Given the description of an element on the screen output the (x, y) to click on. 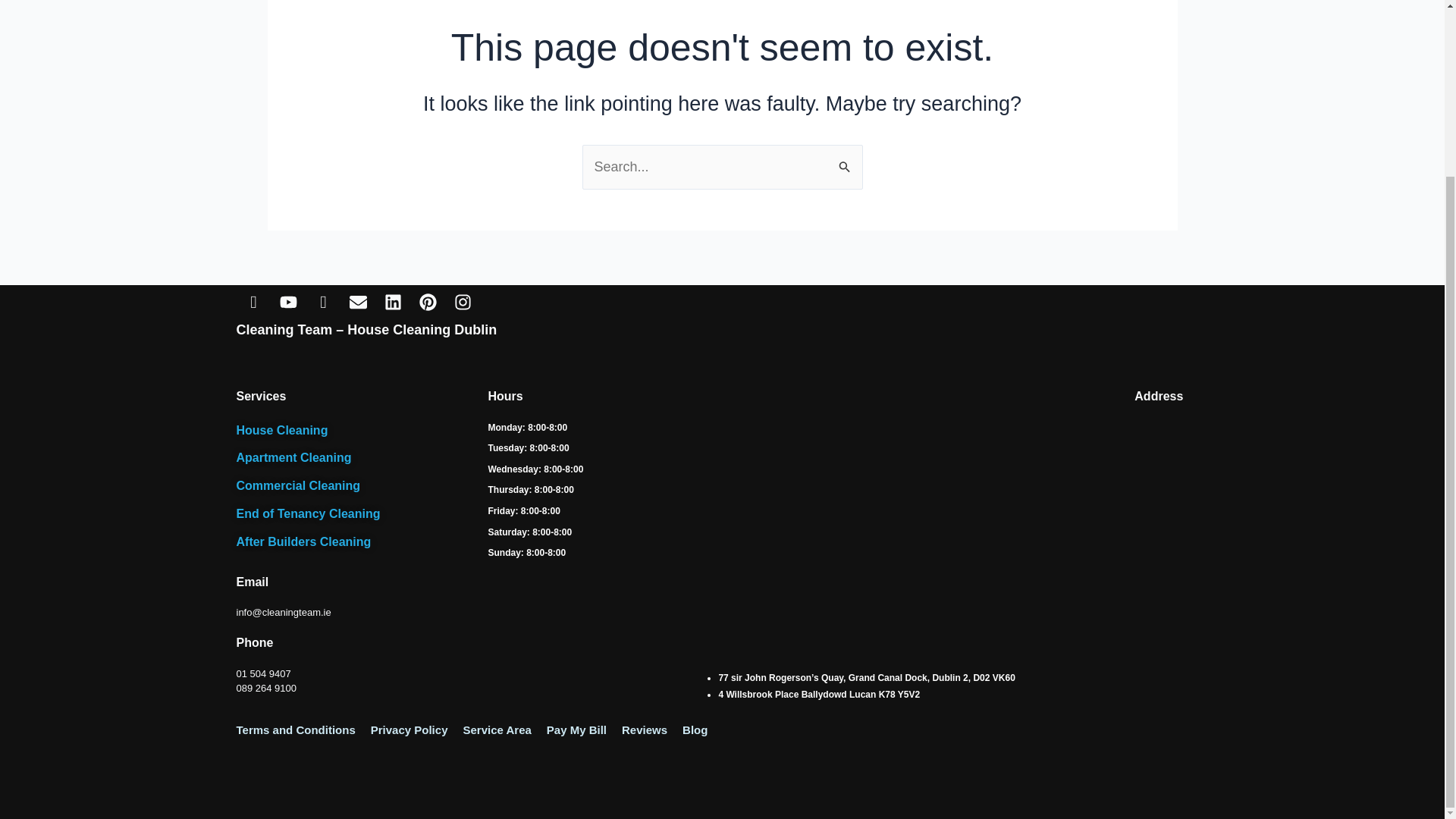
Search (844, 160)
Search (844, 160)
